Given the description of an element on the screen output the (x, y) to click on. 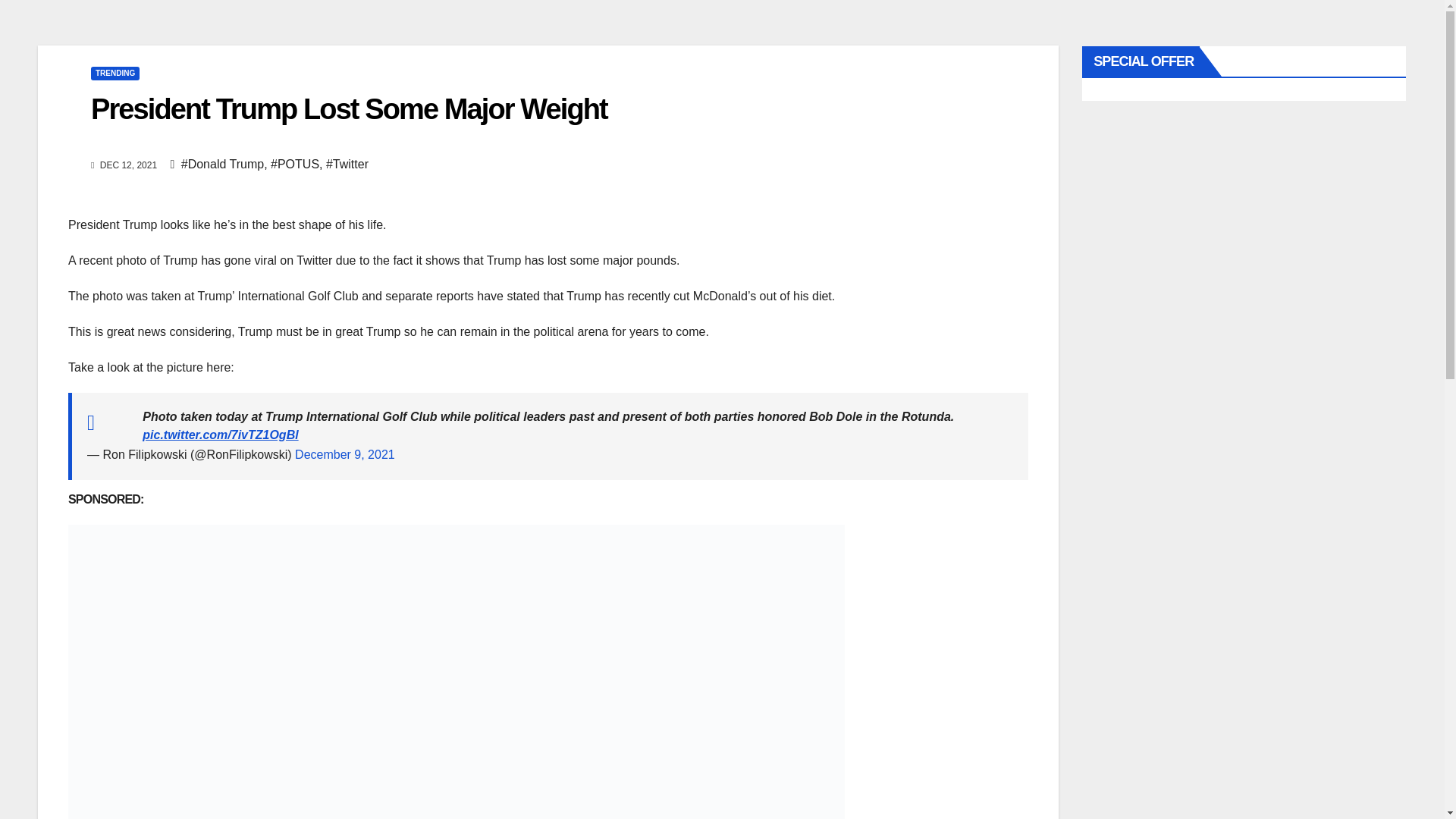
President Trump Lost Some Major Weight (348, 109)
December 9, 2021 (344, 454)
TRENDING (114, 73)
Permalink to: President Trump Lost Some Major Weight (348, 109)
